Given the description of an element on the screen output the (x, y) to click on. 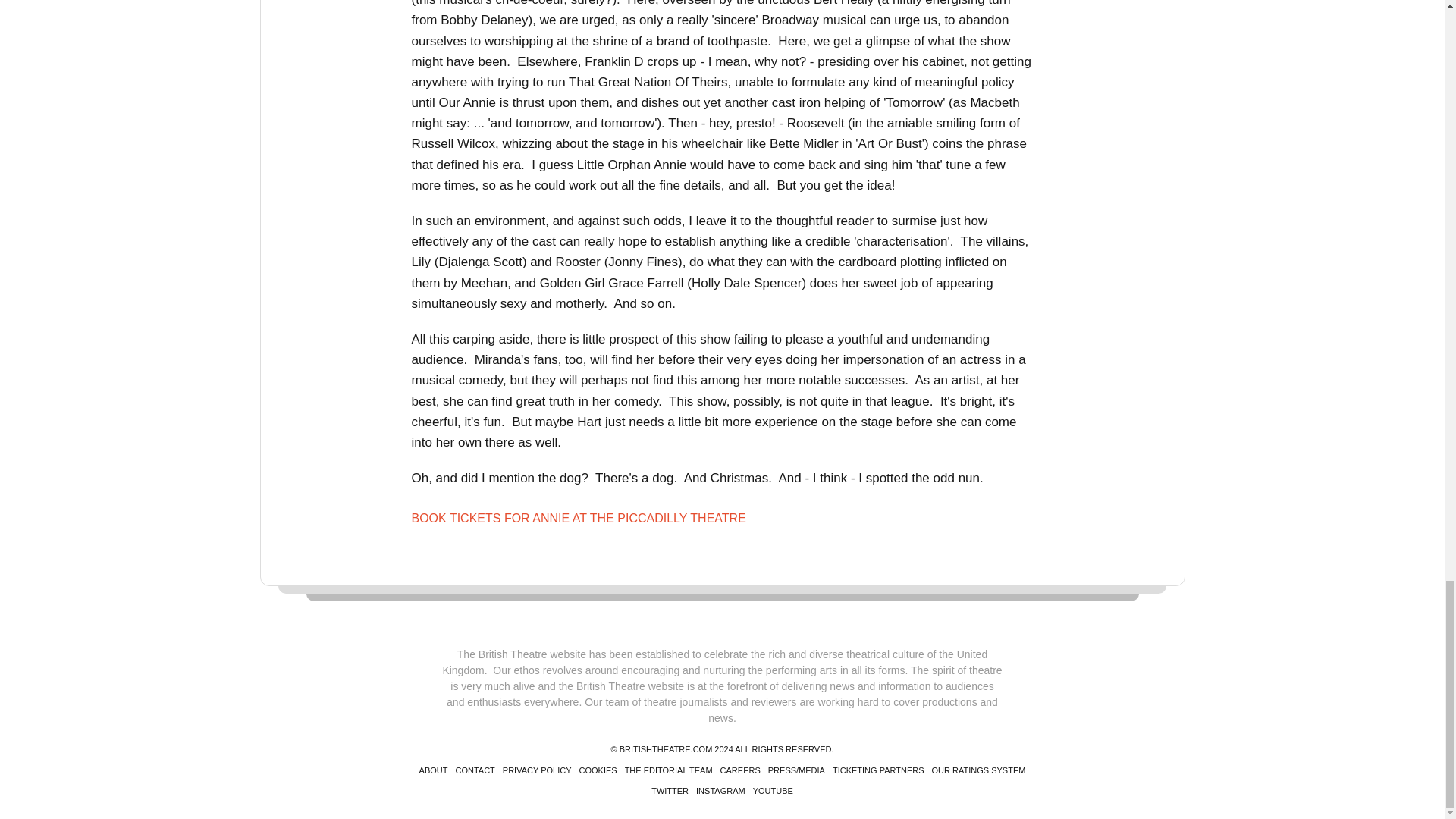
YOUTUBE (772, 790)
ABOUT (433, 769)
COOKIES (598, 769)
INSTAGRAM (720, 790)
CAREERS (740, 769)
TWITTER (669, 790)
CONTACT (474, 769)
TICKETING PARTNERS (878, 769)
BOOK TICKETS FOR ANNIE AT THE PICCADILLY THEATRE (577, 517)
PRIVACY POLICY (537, 769)
